Given the description of an element on the screen output the (x, y) to click on. 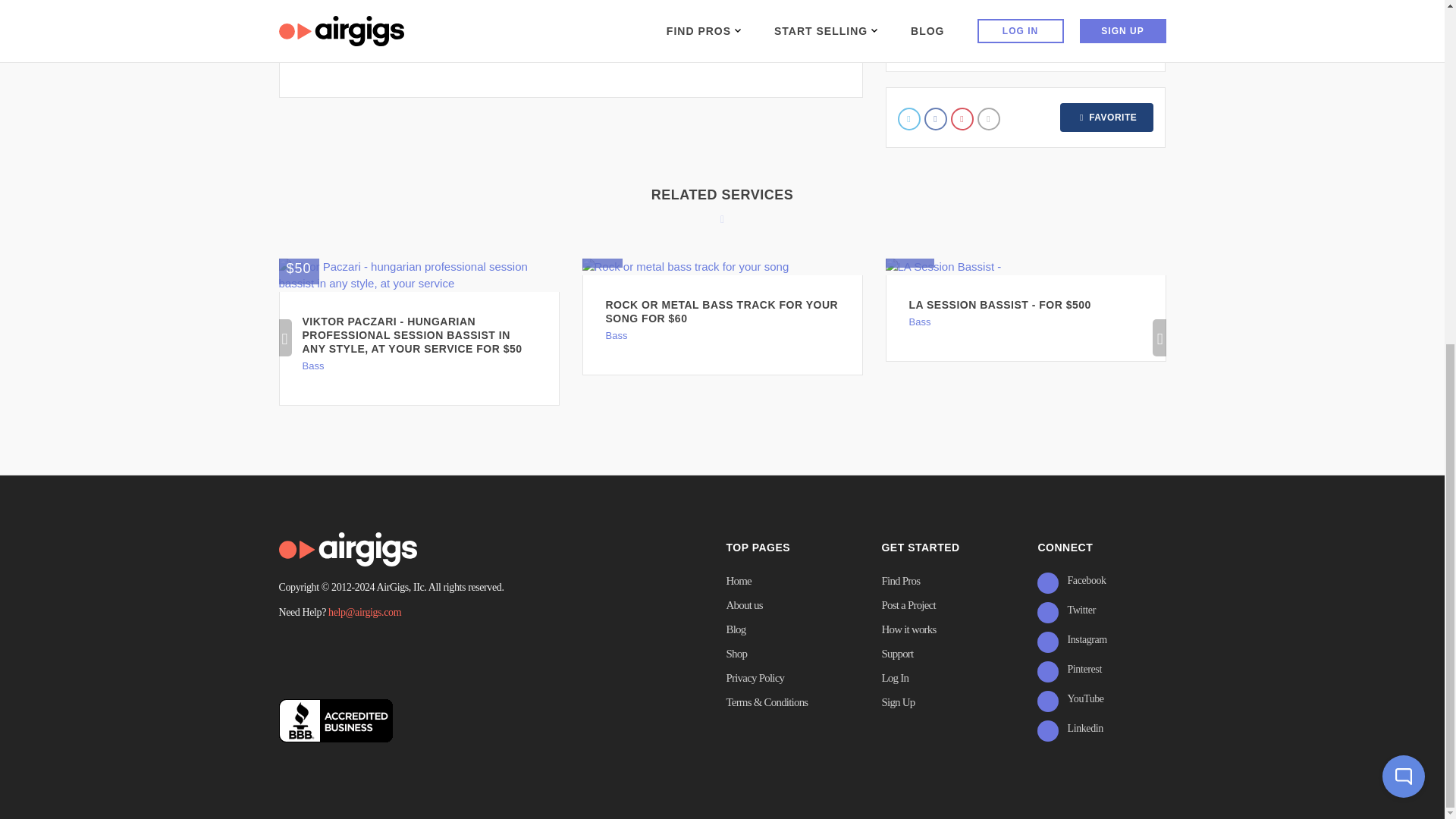
AirGigs is a BBB Accredited Musician in Melbourne, FL (336, 720)
contact (1026, 40)
